Given the description of an element on the screen output the (x, y) to click on. 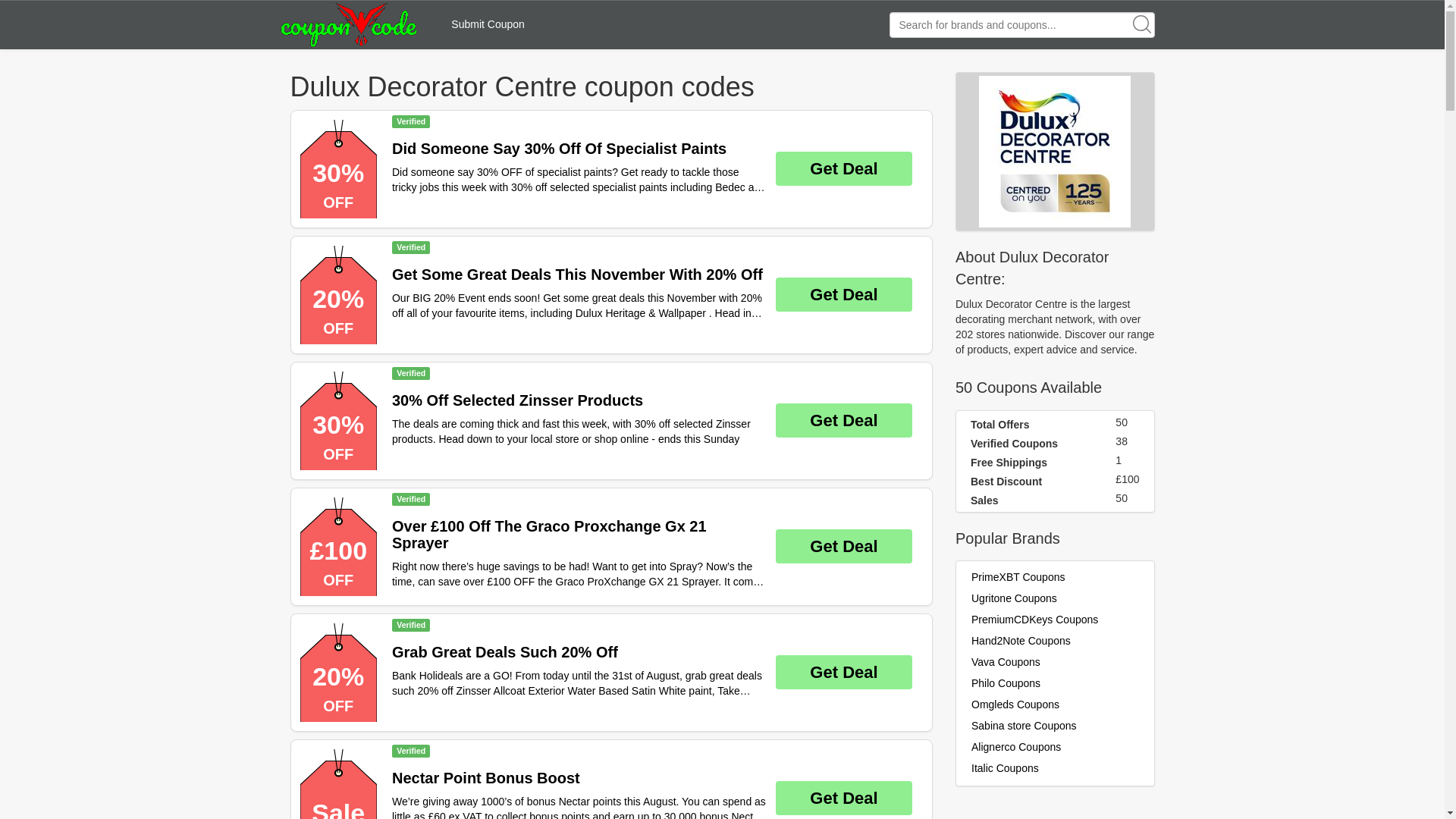
Get Deal (844, 672)
Get Deal (844, 420)
Submit Coupon (487, 24)
Sale (338, 784)
Get Deal (844, 168)
Get Deal (844, 797)
Get Deal (844, 294)
Get Deal (844, 546)
